Given the description of an element on the screen output the (x, y) to click on. 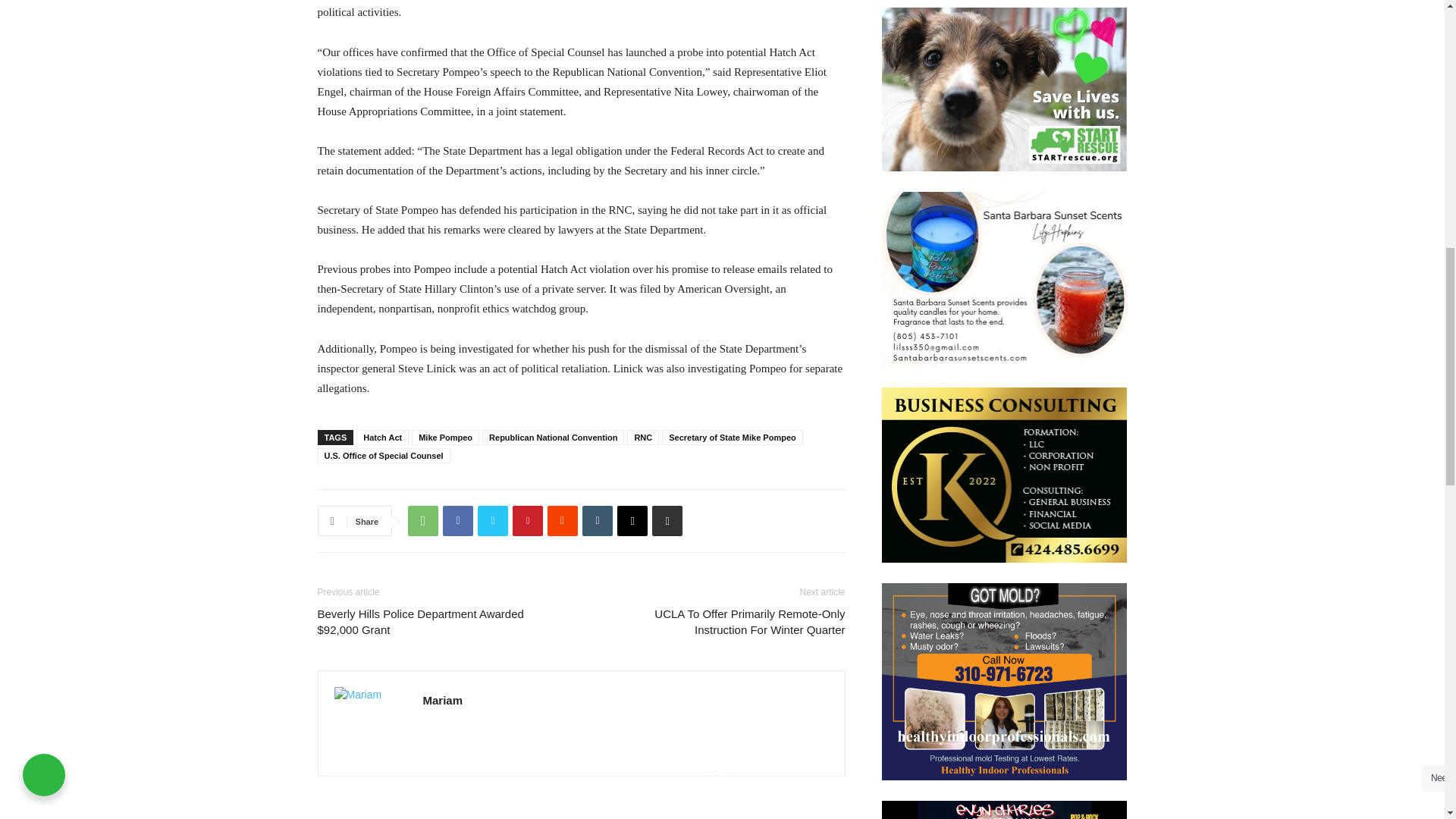
WhatsApp (422, 521)
